Given the description of an element on the screen output the (x, y) to click on. 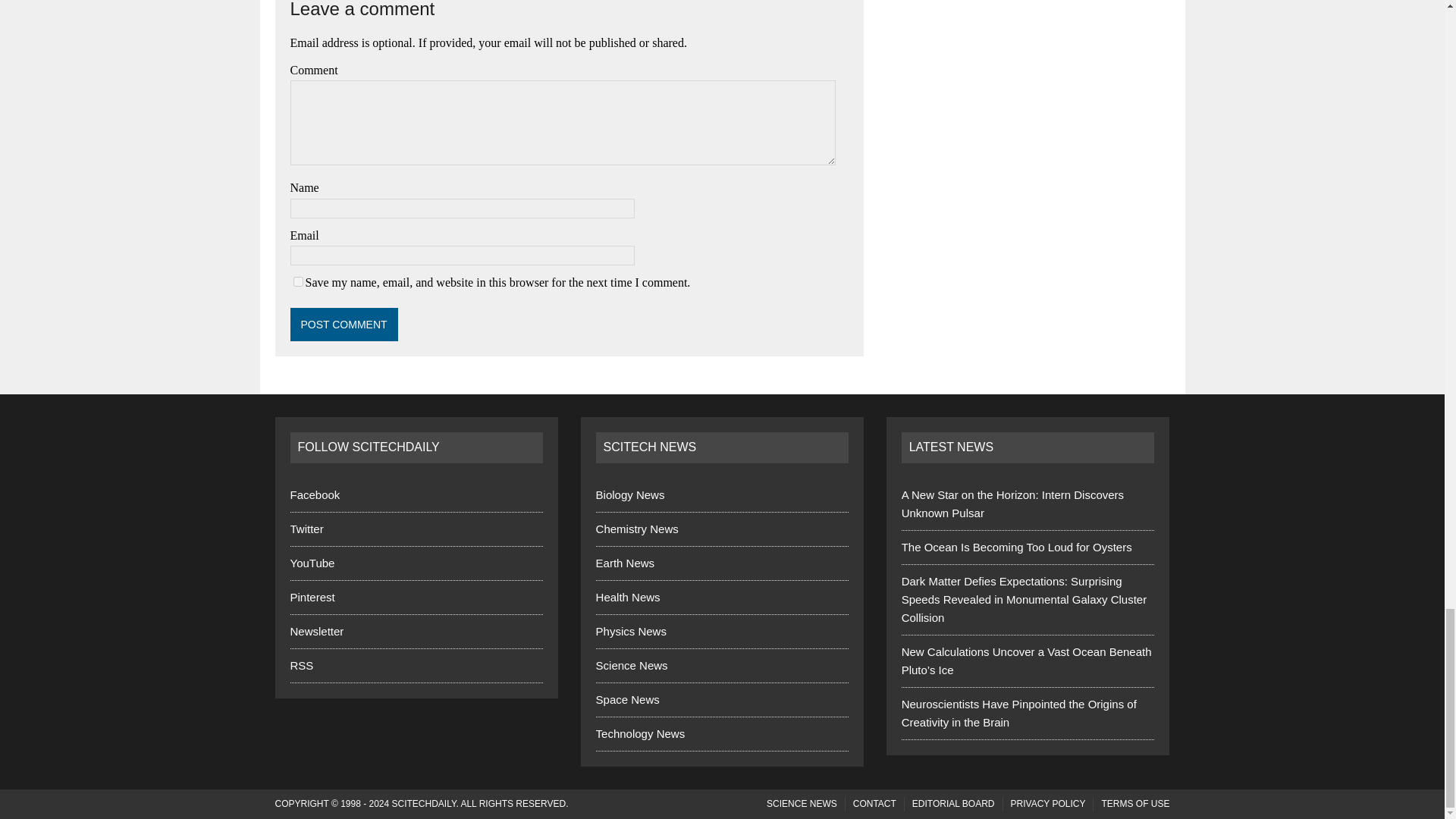
Post Comment (343, 324)
yes (297, 281)
